Given the description of an element on the screen output the (x, y) to click on. 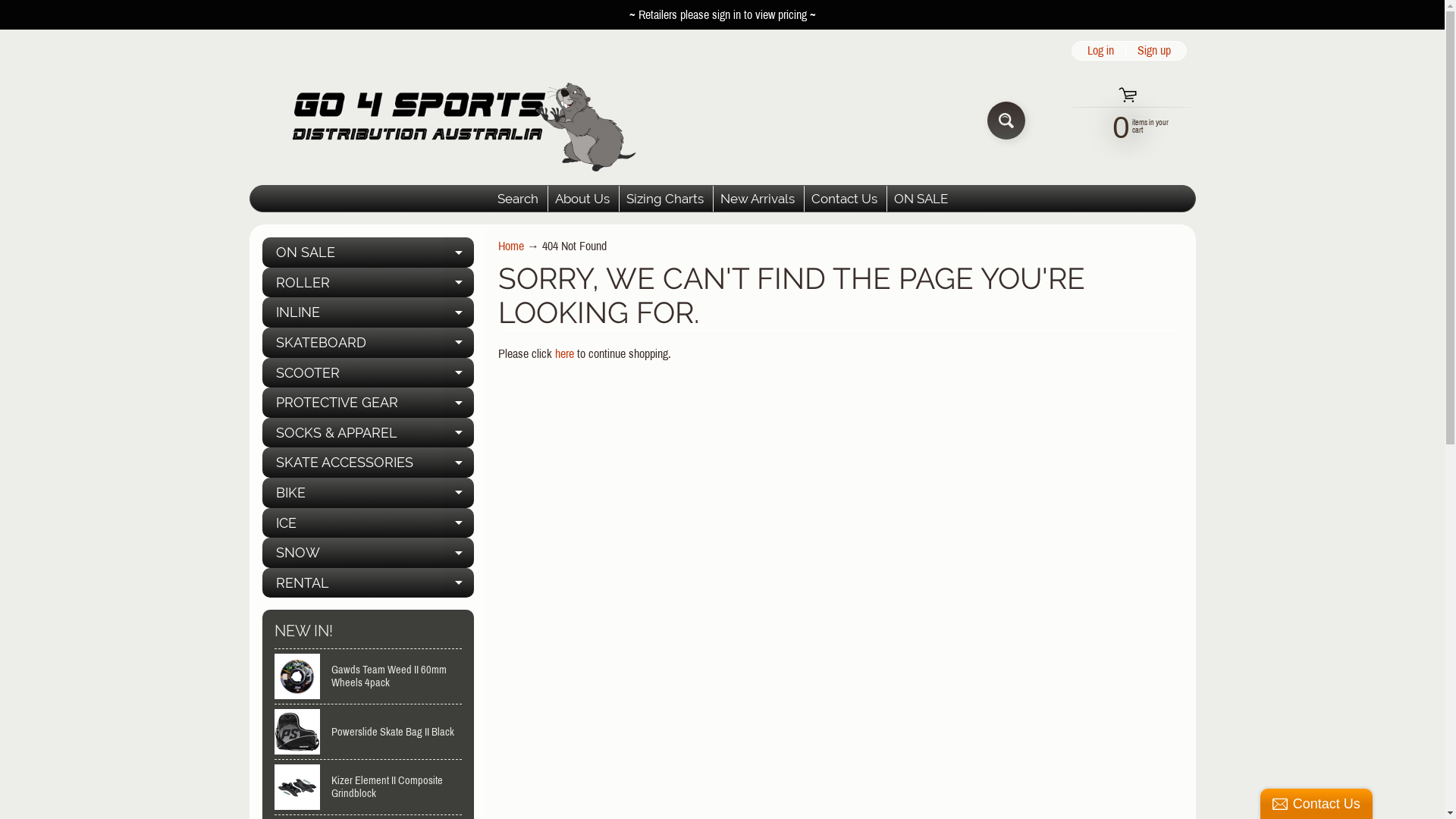
RENTAL
EXPAND CHILD MENU Element type: text (368, 582)
SKATEBOARD
EXPAND CHILD MENU Element type: text (368, 342)
PROTECTIVE GEAR
EXPAND CHILD MENU Element type: text (368, 402)
EXPAND CHILD MENU Element type: text (458, 432)
BIKE
EXPAND CHILD MENU Element type: text (368, 492)
EXPAND CHILD MENU Element type: text (458, 552)
Go 4 Sports Distribution Australia Element type: hover (451, 119)
EXPAND CHILD MENU Element type: text (458, 492)
SKIP TO CONTENT Element type: text (22, 8)
SNOW
EXPAND CHILD MENU Element type: text (368, 552)
ON SALE Element type: text (920, 198)
ON SALE
EXPAND CHILD MENU Element type: text (368, 252)
EXPAND CHILD MENU Element type: text (458, 523)
SEARCH Element type: text (1006, 120)
About Us Element type: text (581, 198)
EXPAND CHILD MENU Element type: text (458, 312)
EXPAND CHILD MENU Element type: text (458, 462)
Gawds Team Weed II 60mm Wheels 4pack Element type: text (368, 676)
0
items in your cart Element type: text (1122, 125)
Kizer Element II Composite Grindblock Element type: text (368, 786)
Sizing Charts Element type: text (664, 198)
Powerslide Skate Bag II Black Element type: text (368, 731)
EXPAND CHILD MENU Element type: text (458, 342)
Search Element type: text (517, 198)
ICE
EXPAND CHILD MENU Element type: text (368, 523)
ROLLER
EXPAND CHILD MENU Element type: text (368, 282)
New Arrivals Element type: text (756, 198)
Home Element type: text (511, 245)
EXPAND CHILD MENU Element type: text (458, 282)
SOCKS & APPAREL
EXPAND CHILD MENU Element type: text (368, 432)
Sign up Element type: text (1153, 50)
here Element type: text (564, 353)
EXPAND CHILD MENU Element type: text (458, 252)
SCOOTER
EXPAND CHILD MENU Element type: text (368, 372)
EXPAND CHILD MENU Element type: text (458, 372)
Contact Us Element type: text (843, 198)
EXPAND CHILD MENU Element type: text (458, 402)
Log in Element type: text (1100, 50)
SKATE ACCESSORIES
EXPAND CHILD MENU Element type: text (368, 462)
INLINE
EXPAND CHILD MENU Element type: text (368, 312)
EXPAND CHILD MENU Element type: text (458, 582)
